Given the description of an element on the screen output the (x, y) to click on. 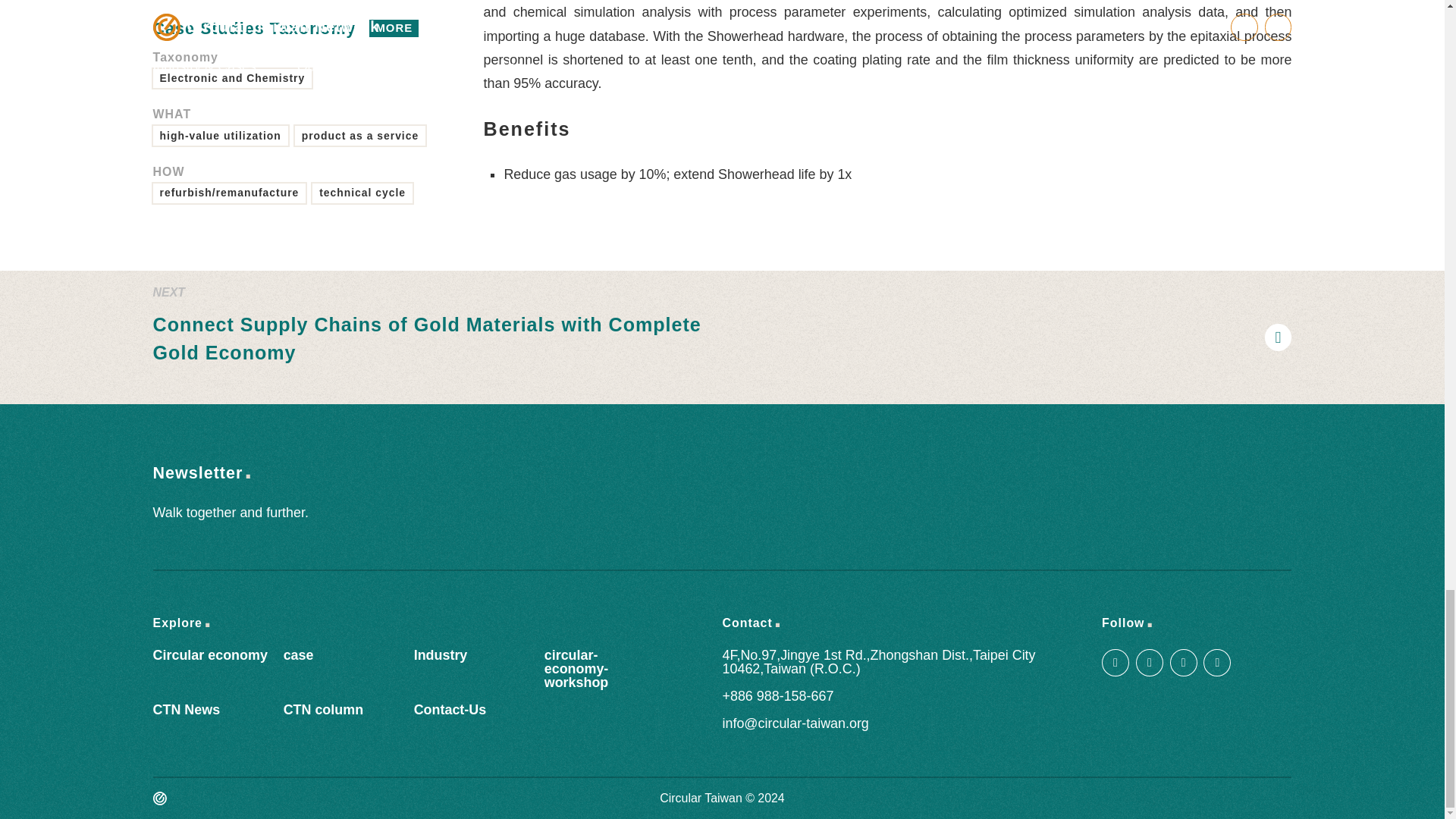
case (298, 654)
Contact-Us (449, 709)
CTN News (186, 709)
Circular economy (209, 654)
circular-economy-workshop (576, 668)
CTN column (322, 709)
Industry (440, 654)
